Given the description of an element on the screen output the (x, y) to click on. 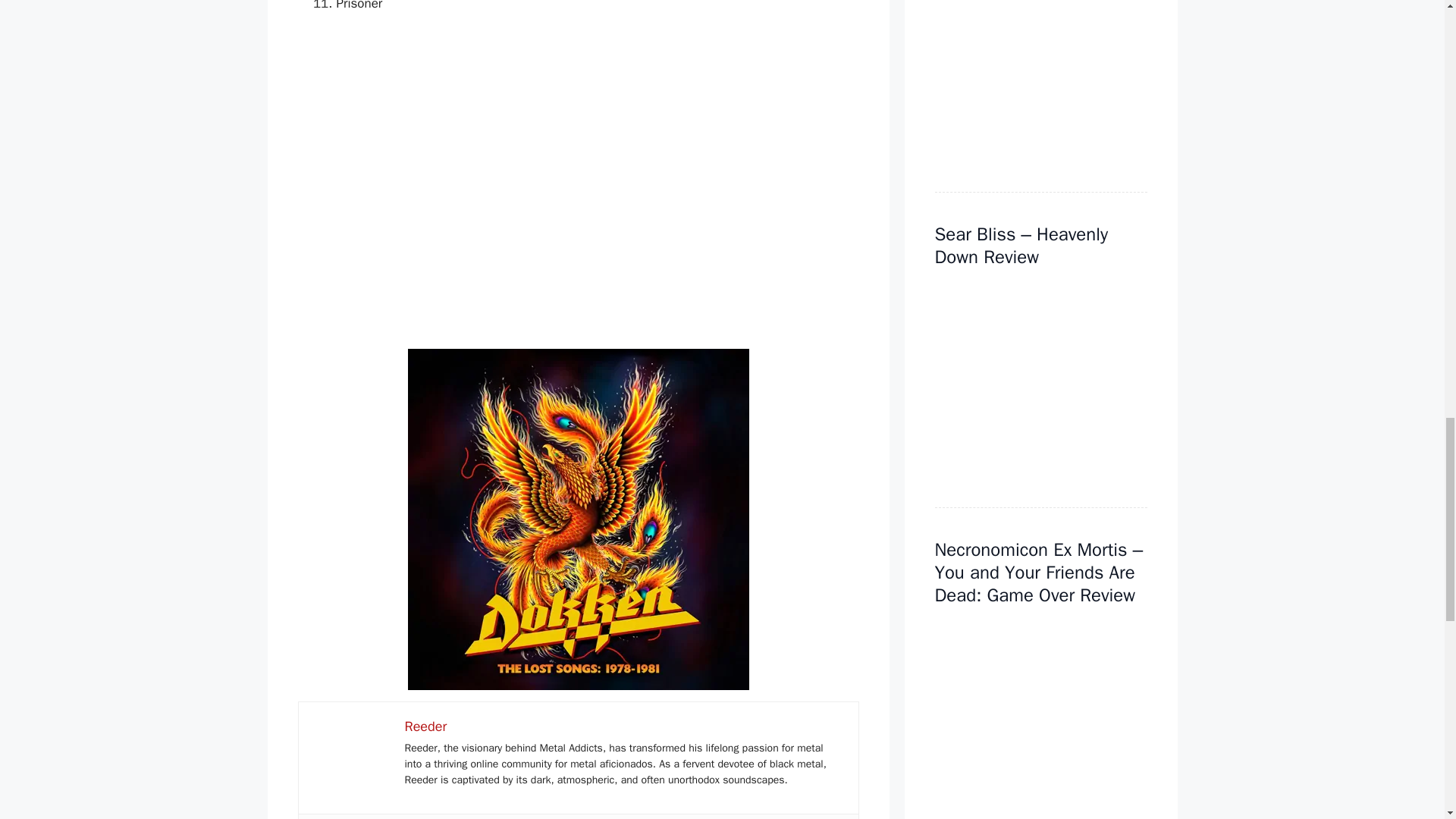
Reeder (425, 726)
